Given the description of an element on the screen output the (x, y) to click on. 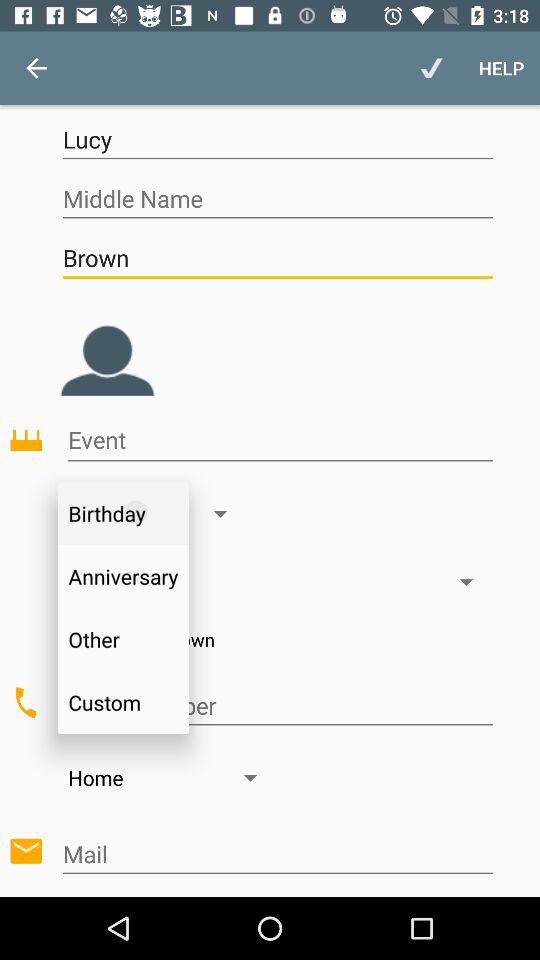
view profile picture (107, 345)
